Given the description of an element on the screen output the (x, y) to click on. 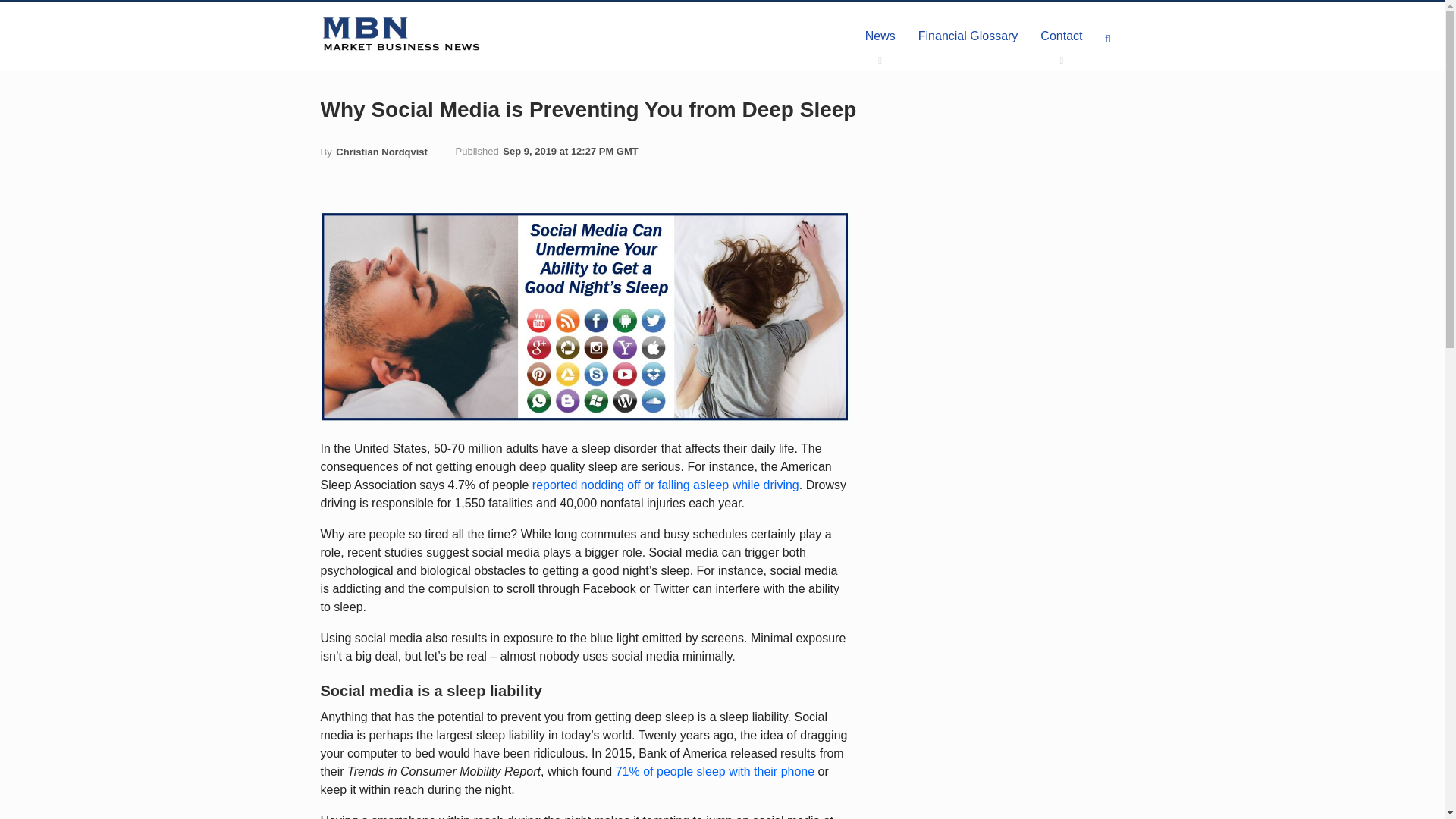
Contact (1061, 36)
Browse Author Articles (373, 152)
Financial Glossary (968, 36)
By Christian Nordqvist (373, 152)
reported nodding off or falling asleep while driving (665, 484)
